Given the description of an element on the screen output the (x, y) to click on. 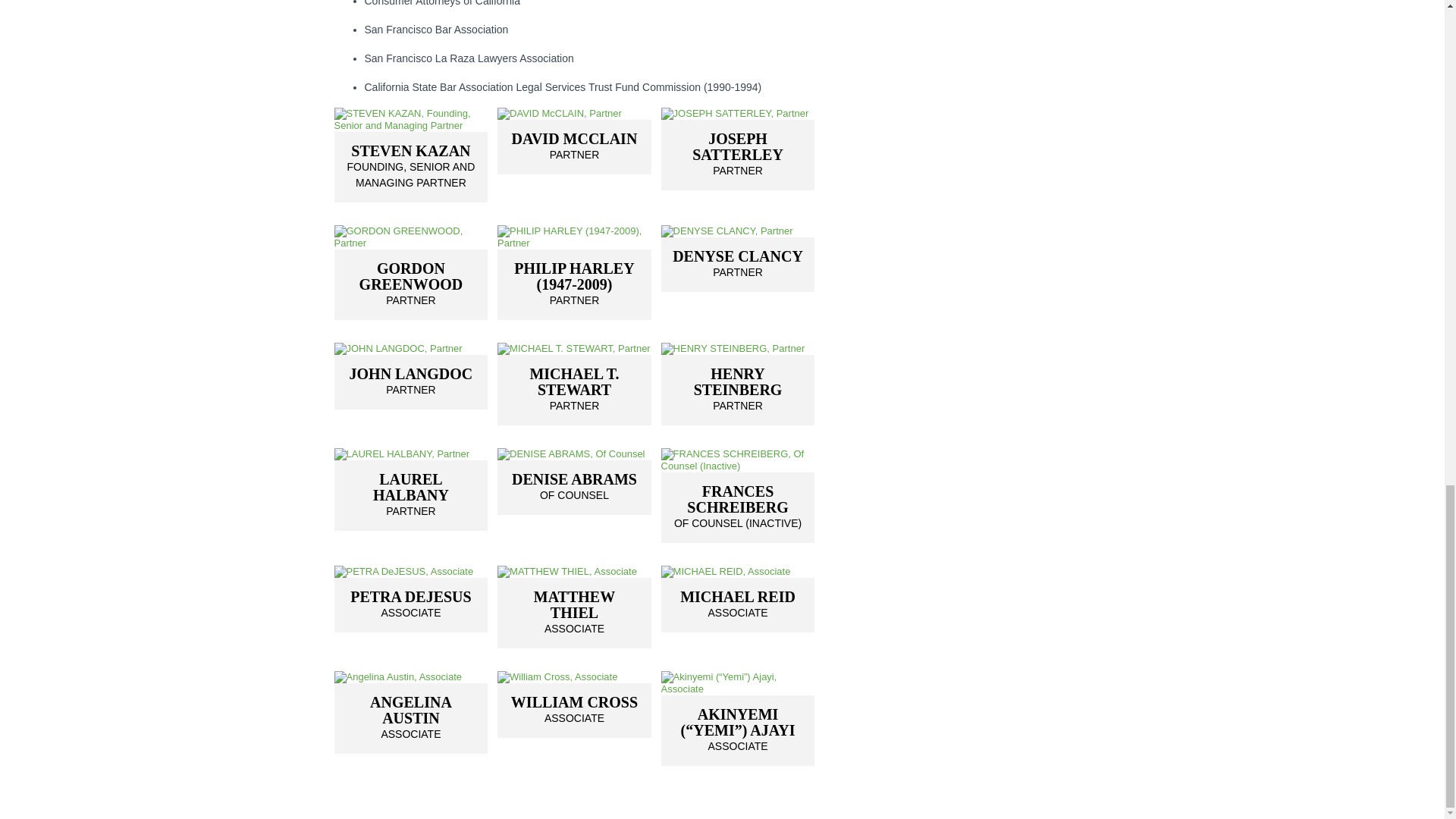
JOSEPH SATTERLEY, Partner (410, 166)
JOSEPH SATTERLEY, Partner (738, 113)
STEVEN KAZAN, Founding, Senior and Managing Partner (738, 154)
JOHN LANGDOC, Partner (410, 166)
DENYSE CLANCY, Partner (410, 348)
JOHN LANGDOC, Partner (738, 230)
GORDON GREENWOOD, Partner (410, 381)
DAVID McCLAIN, Partner (410, 236)
STEVEN KAZAN, Founding, Senior and Managing Partner (573, 146)
MICHAEL T. STEWART, Partner (410, 119)
DAVID McCLAIN, Partner (573, 146)
MICHAEL T. STEWART, Partner (573, 389)
DENYSE CLANCY, Partner (573, 113)
